Given the description of an element on the screen output the (x, y) to click on. 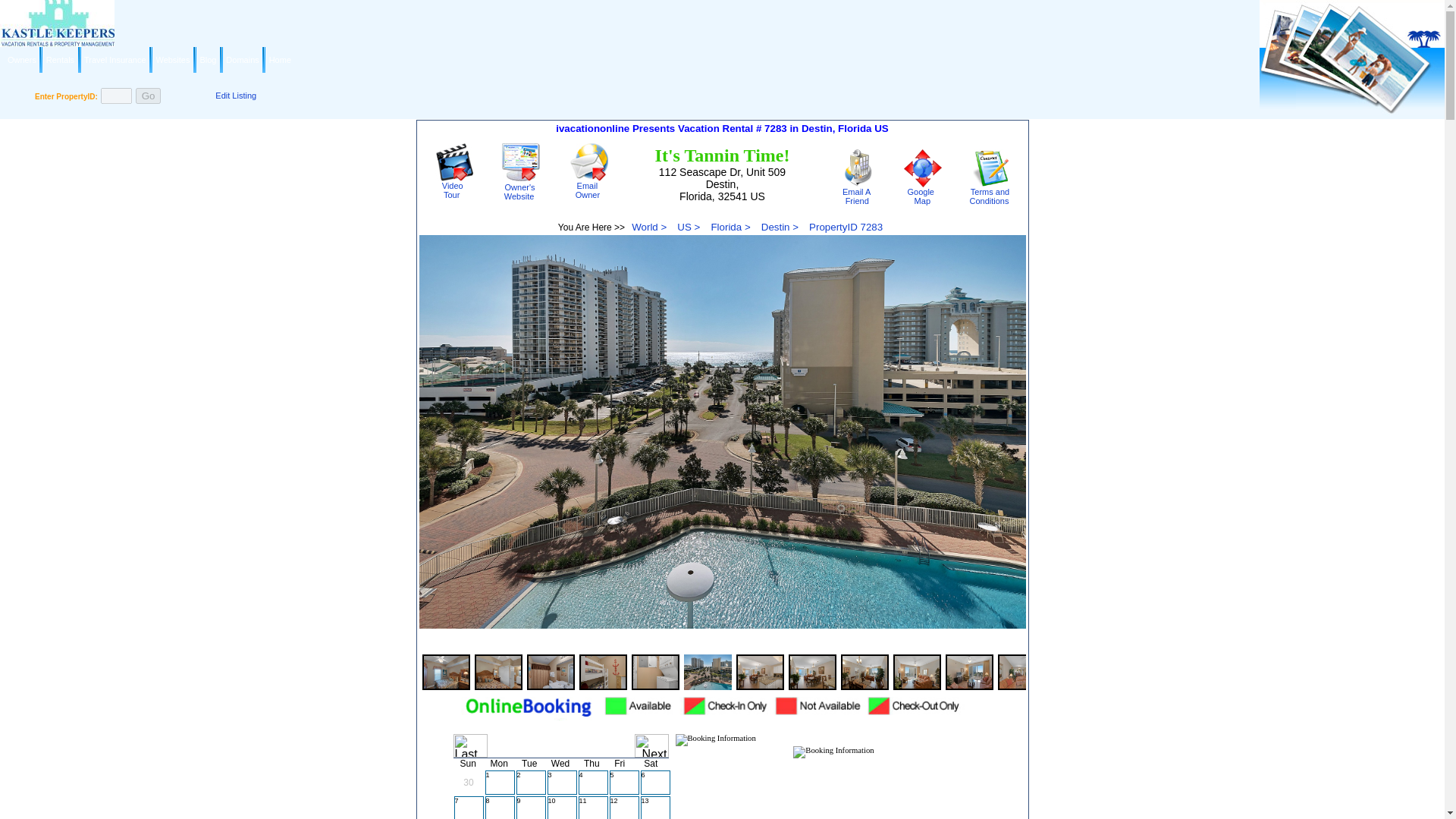
Domains (242, 59)
Owner's Website (521, 161)
Video Tour (454, 161)
PropertyID 7283 (923, 192)
Blog (845, 226)
Home (207, 59)
Google Map (280, 59)
Terms and Conditions (454, 186)
Go (923, 168)
Owners (991, 168)
Websites (148, 95)
Travel Insurance (21, 59)
